Given the description of an element on the screen output the (x, y) to click on. 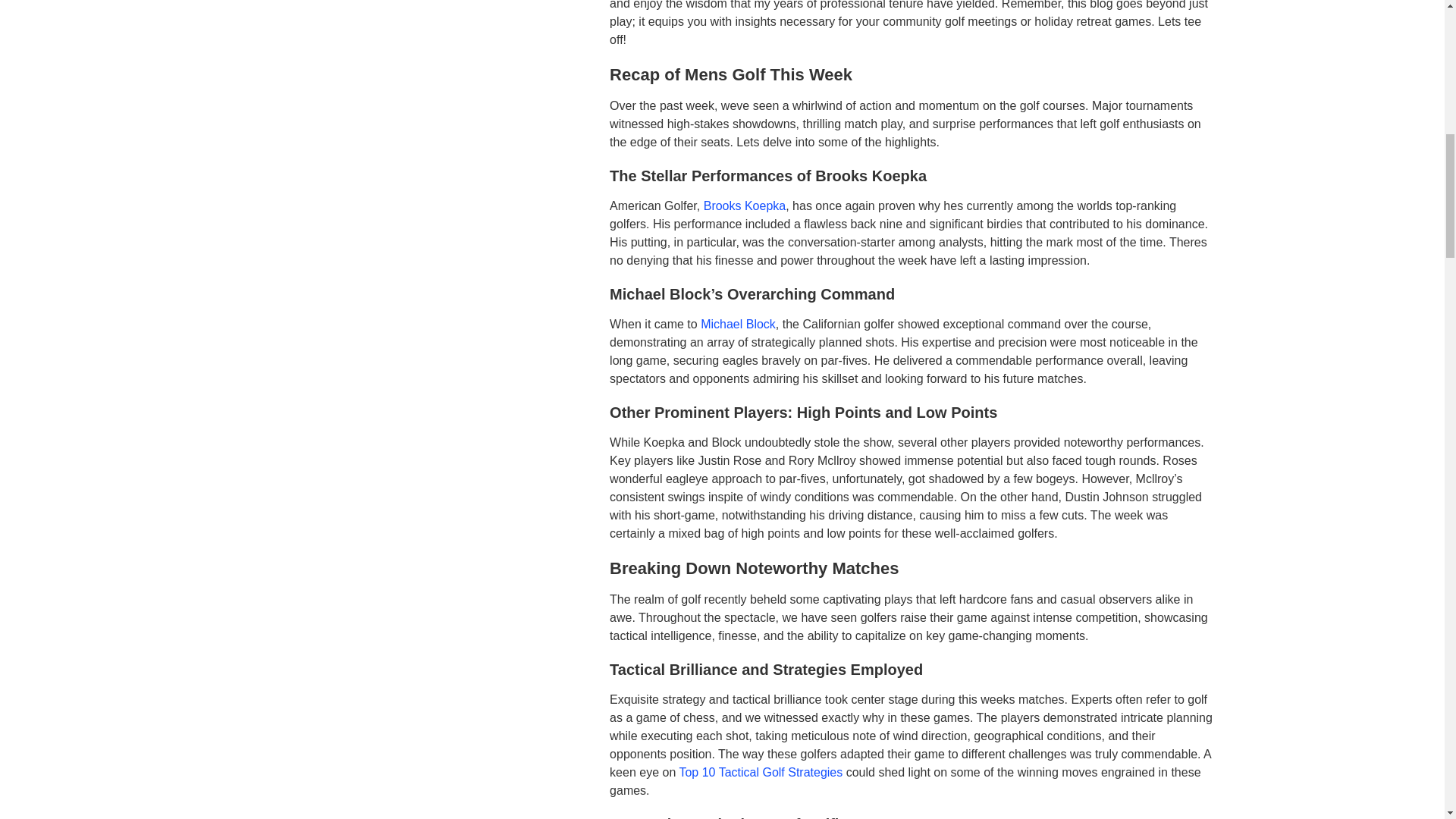
Michael Block (738, 323)
Brooks Koepka (744, 205)
Top 10 Tactical Golf Strategies (760, 771)
